Given the description of an element on the screen output the (x, y) to click on. 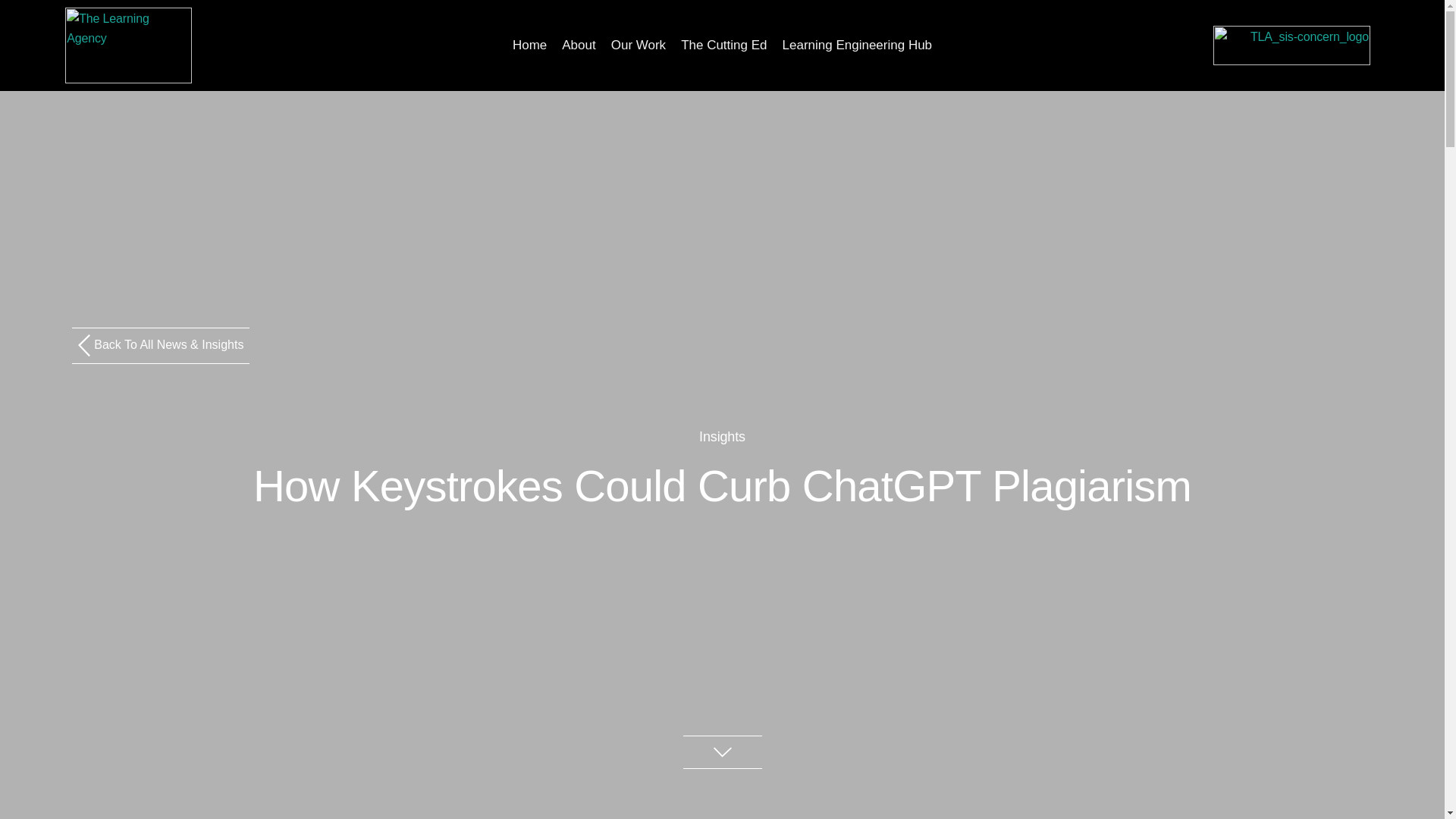
Learning Engineering Hub (858, 45)
About (578, 45)
Home (529, 45)
The Cutting Ed (724, 45)
Our Work (638, 45)
